Given the description of an element on the screen output the (x, y) to click on. 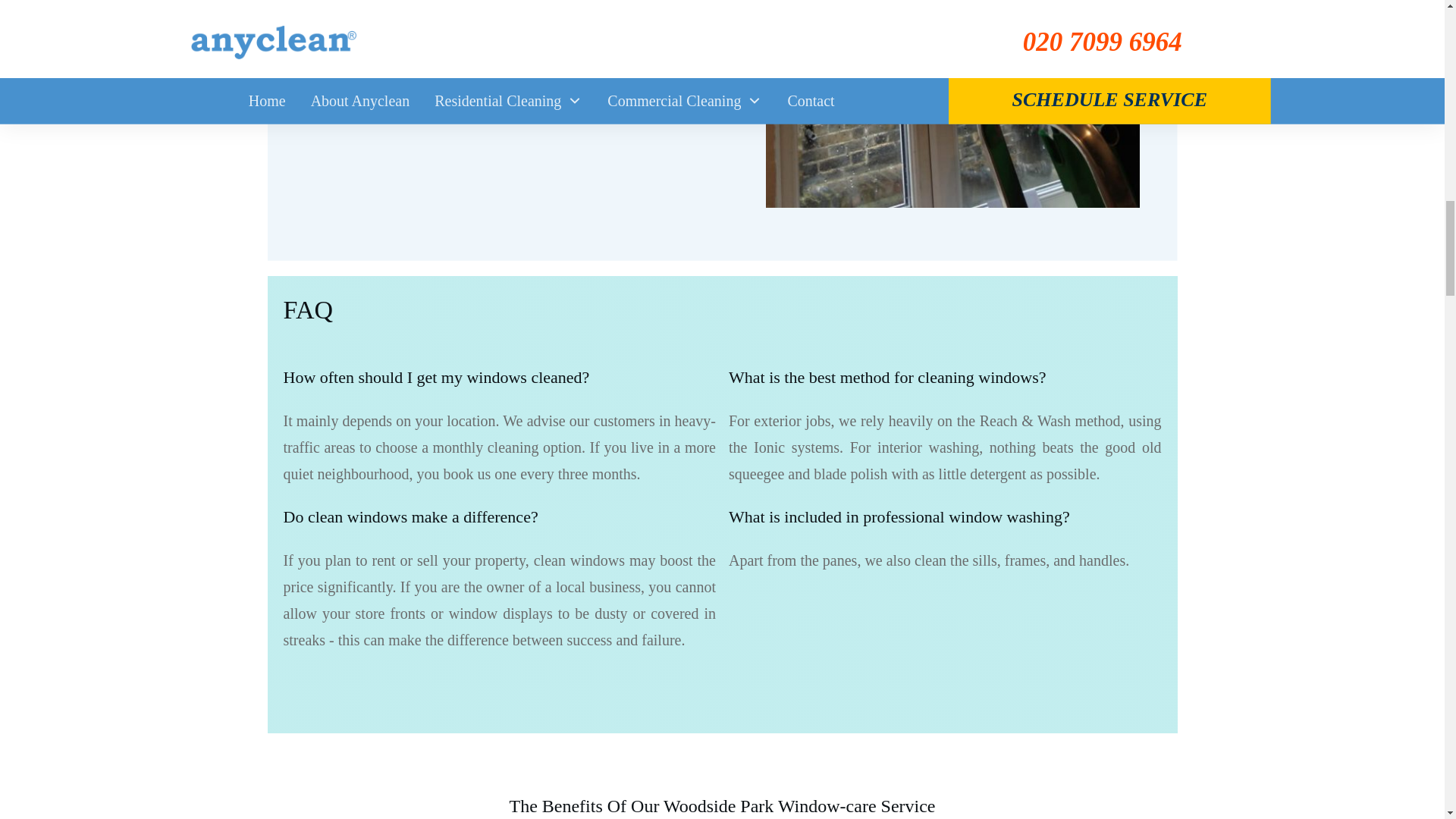
interior-window-polishing-woodside-park-483 (910, 104)
